Given the description of an element on the screen output the (x, y) to click on. 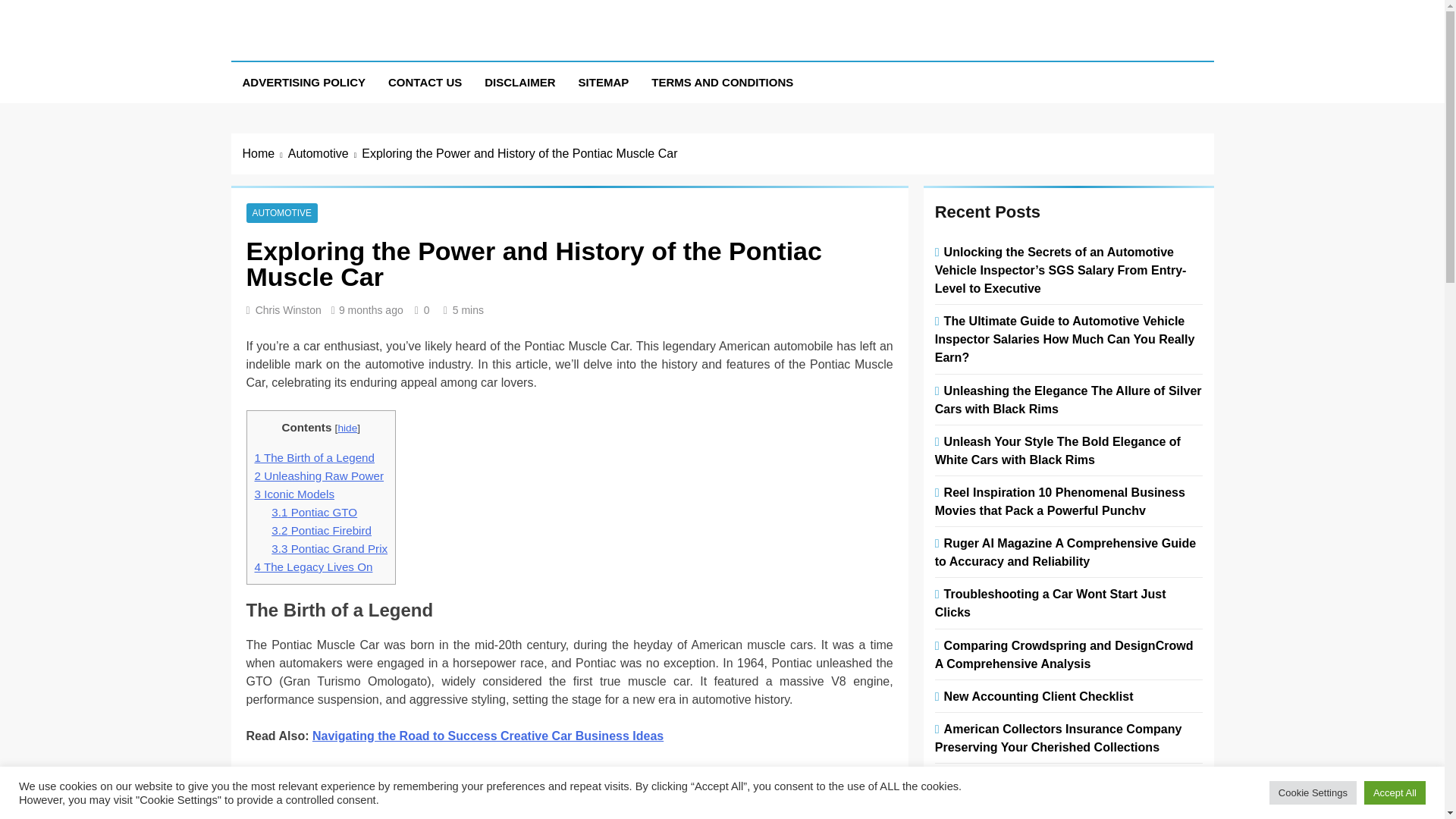
ADVERTISING POLICY (303, 82)
Navigating the Road to Success Creative Car Business Ideas (488, 735)
TERMS AND CONDITIONS (722, 82)
9 months ago (371, 309)
3.1 Pontiac GTO (313, 512)
Chris Winston (288, 309)
4 The Legacy Lives On (313, 566)
hide (346, 428)
